Given the description of an element on the screen output the (x, y) to click on. 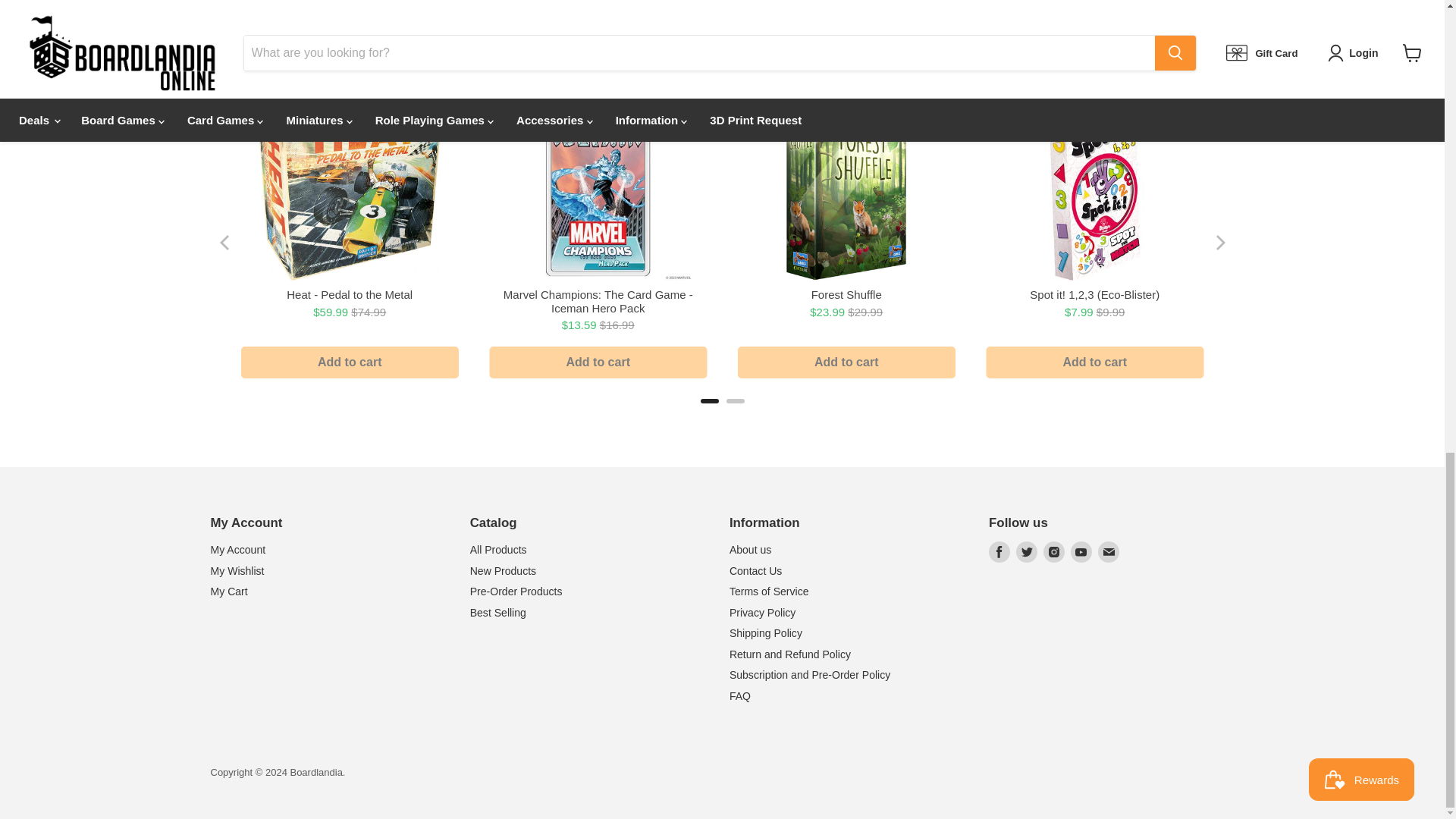
Email (1108, 551)
Twitter (1026, 551)
Youtube (1081, 551)
Facebook (999, 551)
Instagram (1053, 551)
